Given the description of an element on the screen output the (x, y) to click on. 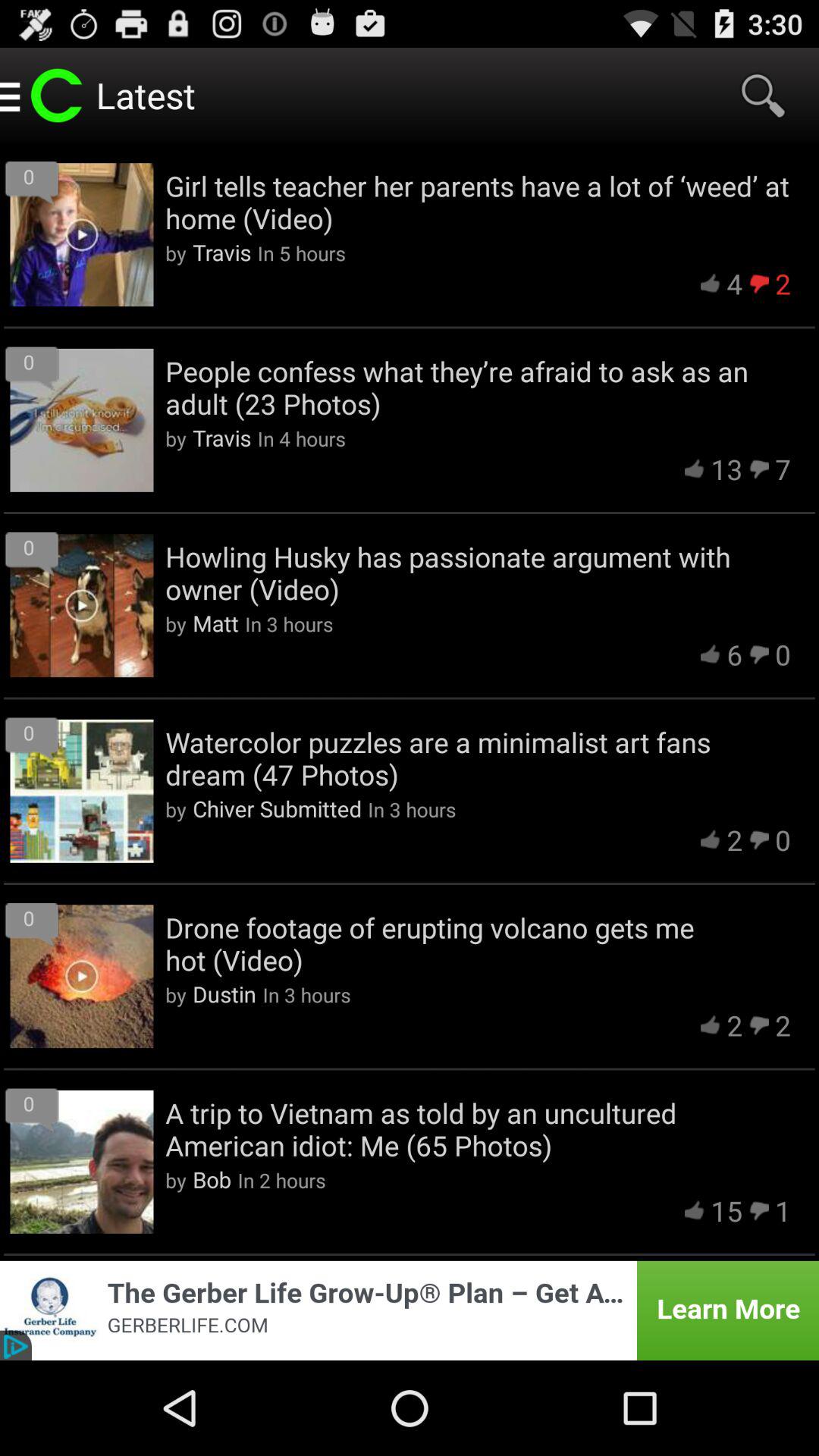
press the app to the left of the in 2 hours app (211, 1179)
